Given the description of an element on the screen output the (x, y) to click on. 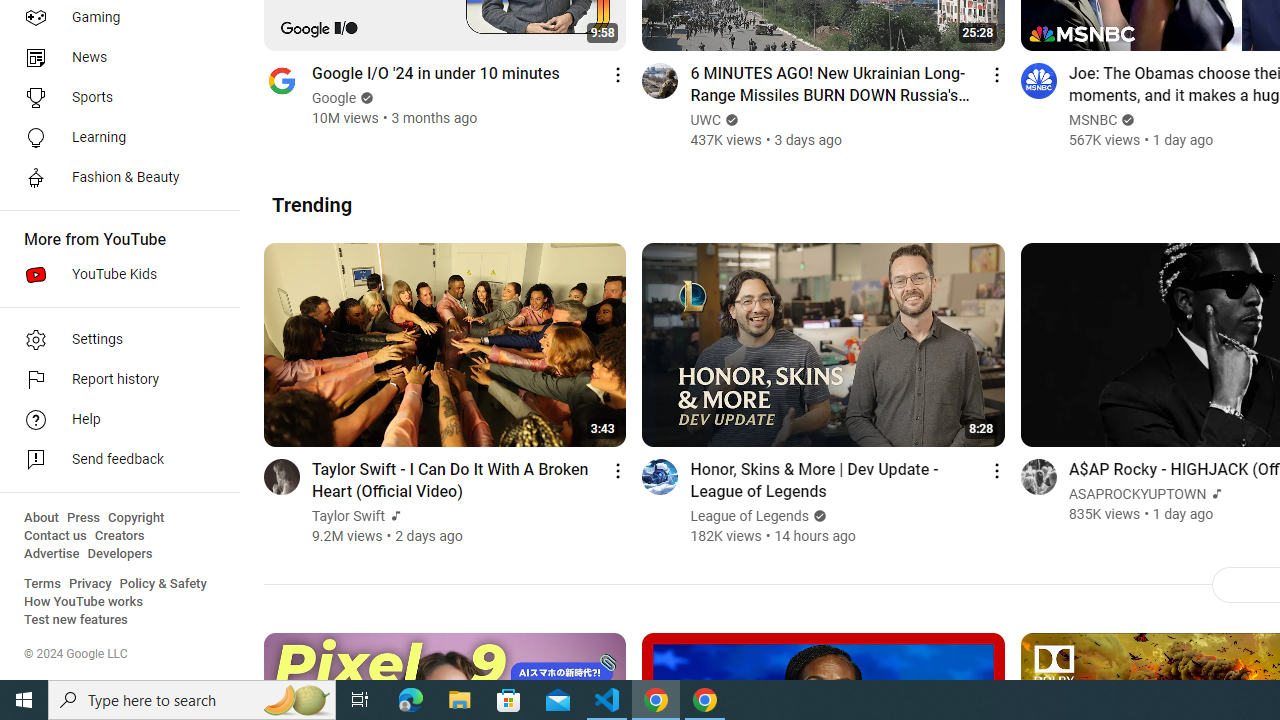
MSNBC (1092, 120)
Sports (113, 97)
Go to channel (1038, 476)
Taylor Swift (349, 516)
How YouTube works (83, 602)
Report history (113, 380)
Policy & Safety (163, 584)
League of Legends (750, 516)
UWC (706, 120)
